Given the description of an element on the screen output the (x, y) to click on. 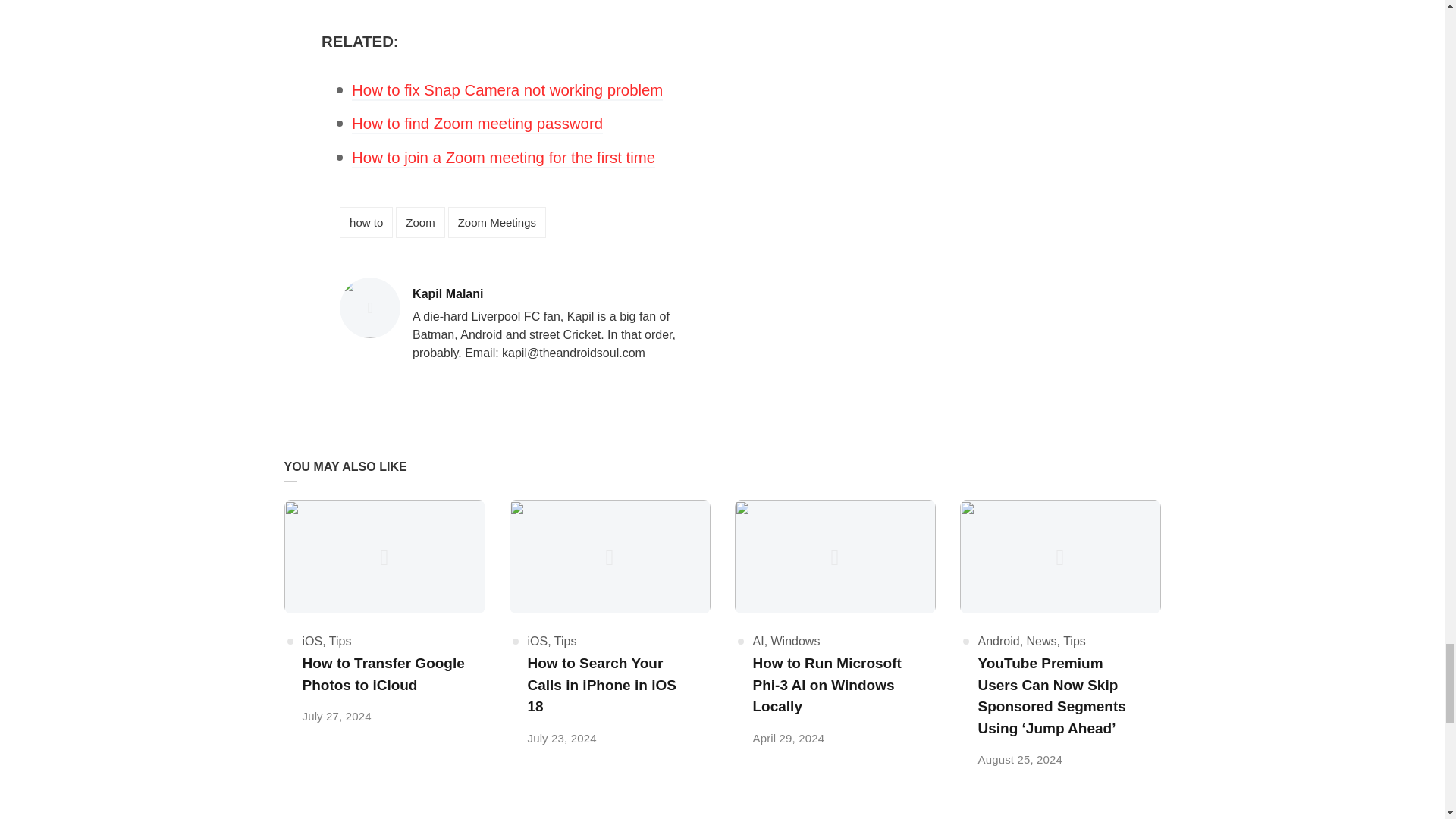
iOS (537, 640)
Zoom Meetings (497, 222)
Tips (565, 640)
How to fix Snap Camera not working problem (507, 90)
iOS (311, 640)
Zoom (420, 222)
Windows (796, 640)
Tips (340, 640)
How to join a Zoom meeting for the first time (503, 158)
How to find Zoom meeting password (477, 124)
